Given the description of an element on the screen output the (x, y) to click on. 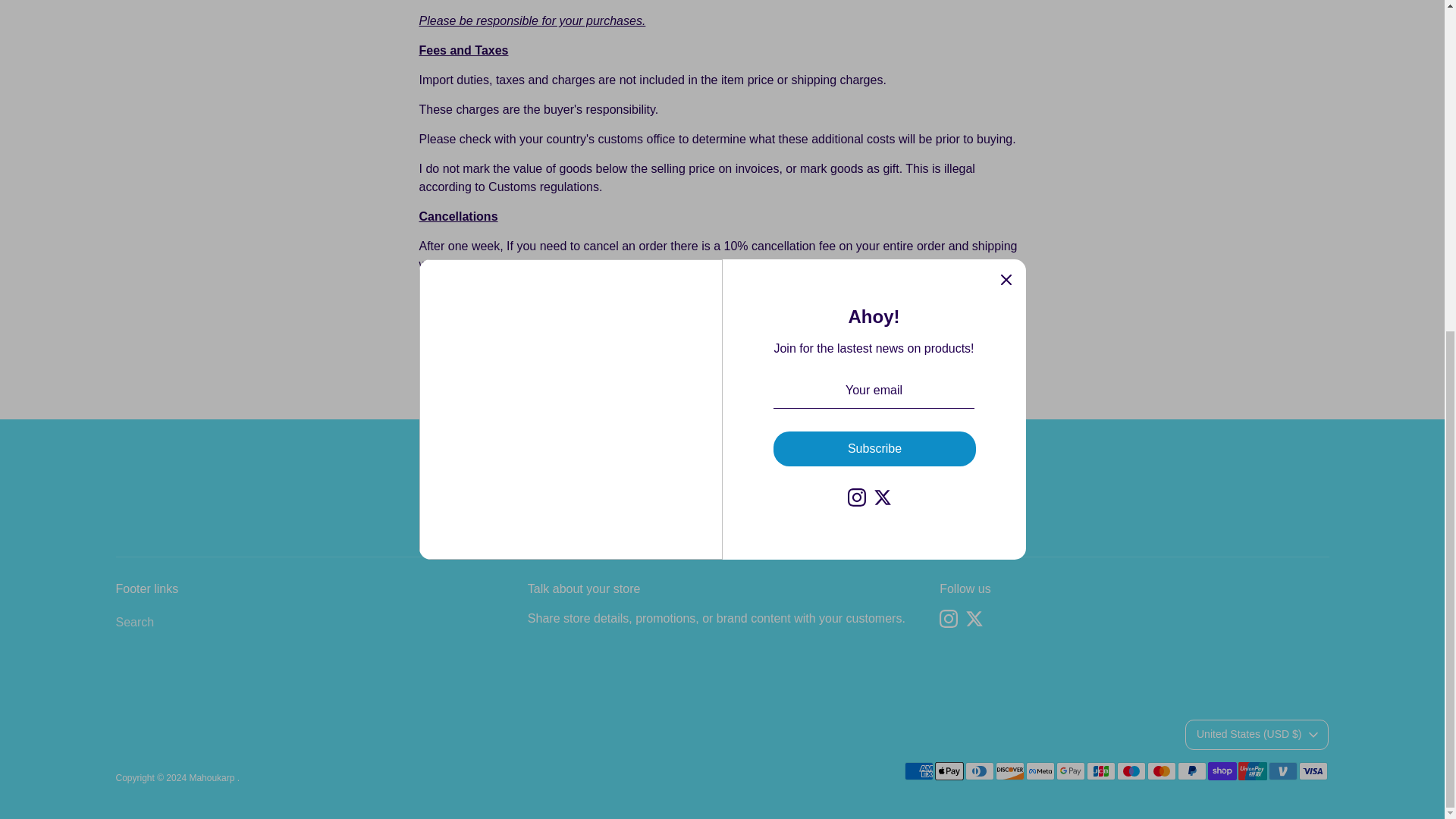
Diners Club (977, 771)
Discover (1008, 771)
Meta Pay (1039, 771)
American Express (918, 771)
Google Pay (1069, 771)
JCB (1100, 771)
Apple Pay (948, 771)
